Given the description of an element on the screen output the (x, y) to click on. 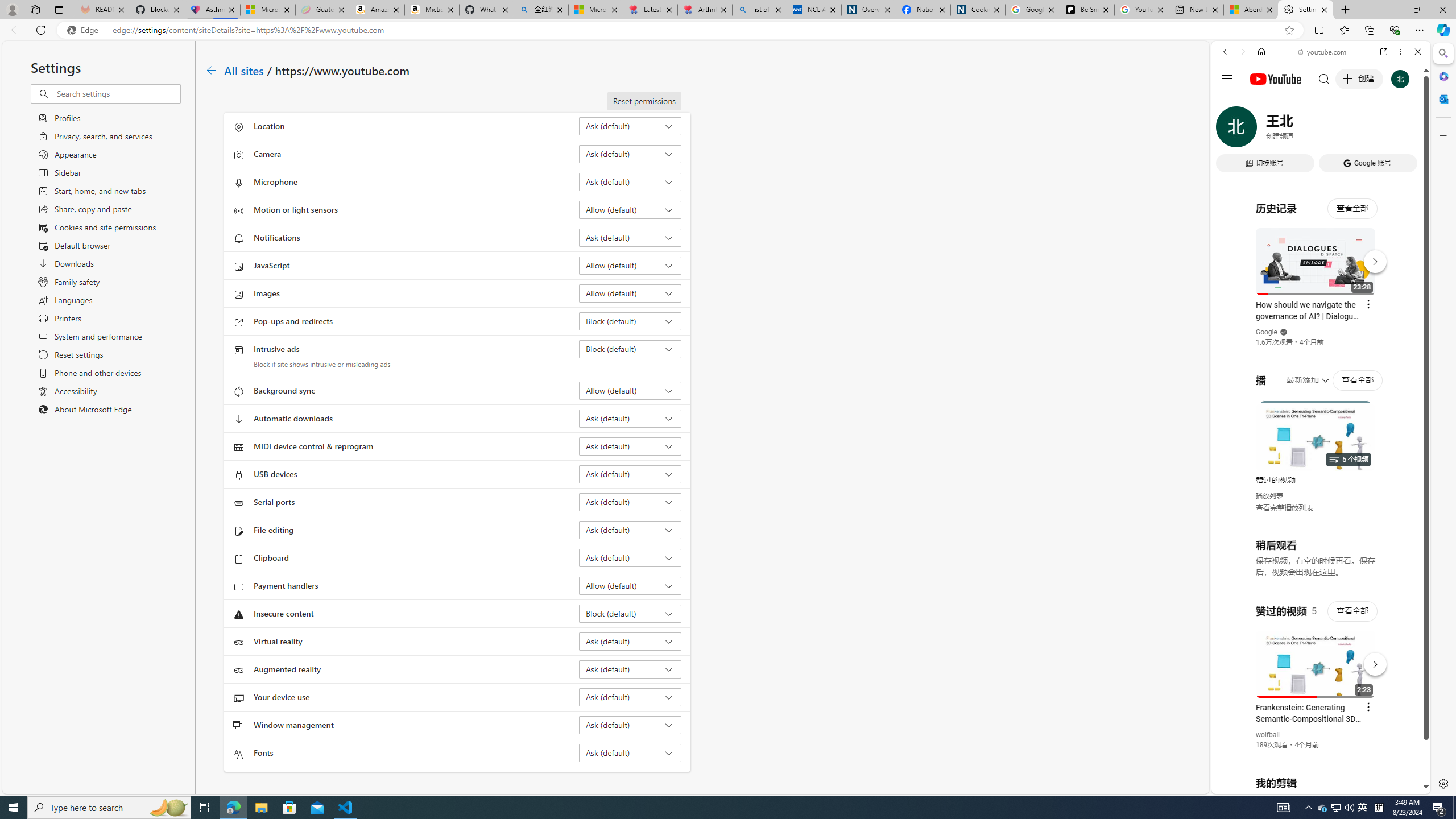
Edge (84, 29)
Serial ports Ask (default) (630, 502)
Search videos from youtube.com (1299, 373)
SEARCH TOOLS (1350, 130)
list of asthma inhalers uk - Search (760, 9)
Augmented reality Ask (default) (630, 669)
